Given the description of an element on the screen output the (x, y) to click on. 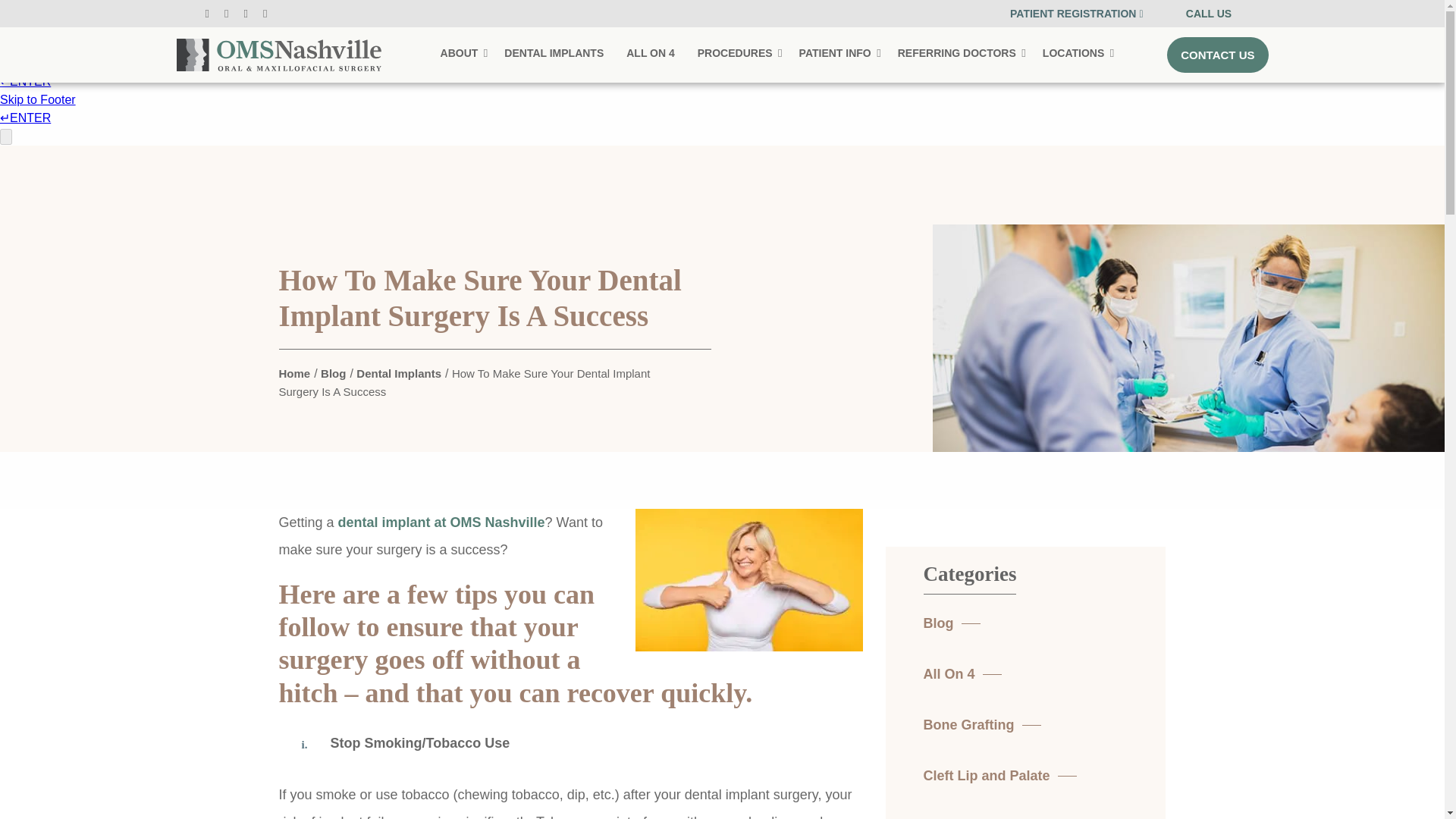
ALL ON 4 (650, 53)
CALL US (1208, 13)
Go to the Blog category archives. (333, 373)
DENTAL IMPLANTS (553, 53)
Go to OMS Nashville. (295, 373)
PATIENT REGISTRATION (1076, 13)
ABOUT (461, 53)
Go to the Dental Implants category archives. (398, 373)
PROCEDURES (736, 53)
